Given the description of an element on the screen output the (x, y) to click on. 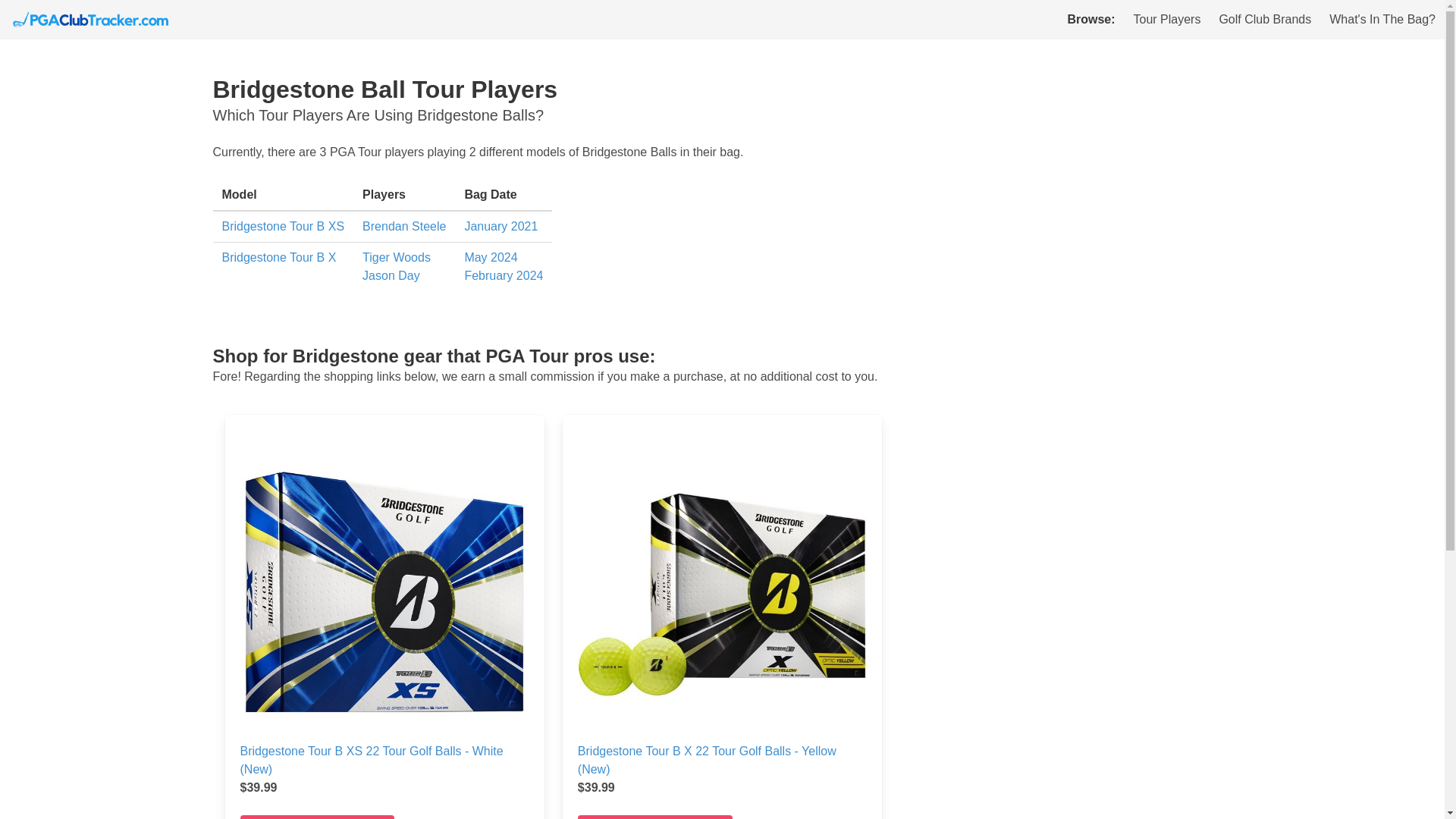
Jason Day (391, 275)
January 2021 (500, 226)
Golf Club Brands (1264, 19)
Shop at GlobalGolf.com (317, 816)
Brendan Steele (403, 226)
Bridgestone Tour B X (278, 256)
Bridgestone Tour B XS (282, 226)
Tour Players (1166, 19)
Shop at GlobalGolf.com (655, 816)
May 2024 (490, 256)
Tiger Woods (396, 256)
February 2024 (503, 275)
